Given the description of an element on the screen output the (x, y) to click on. 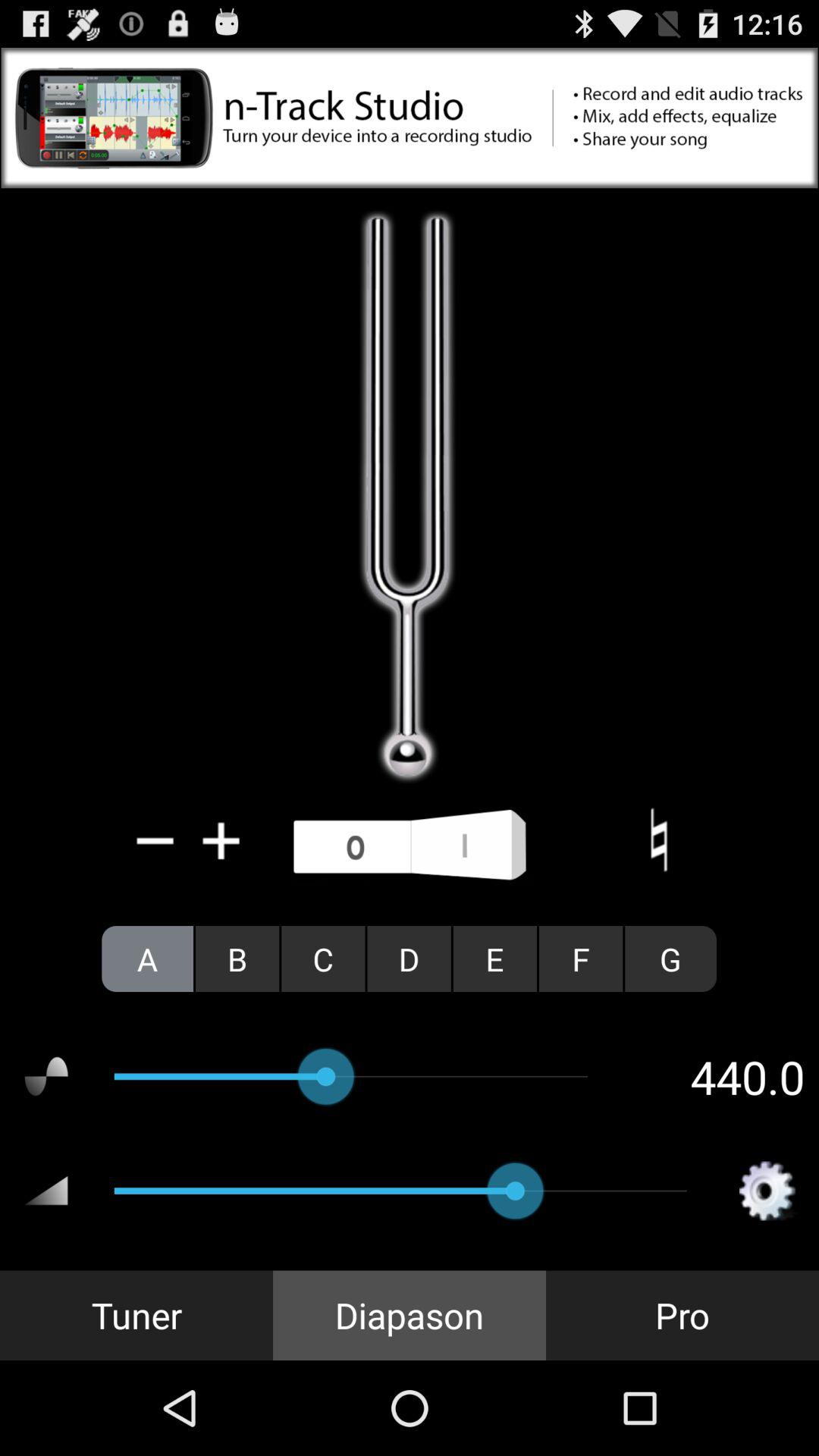
switch pitch option (409, 846)
